Given the description of an element on the screen output the (x, y) to click on. 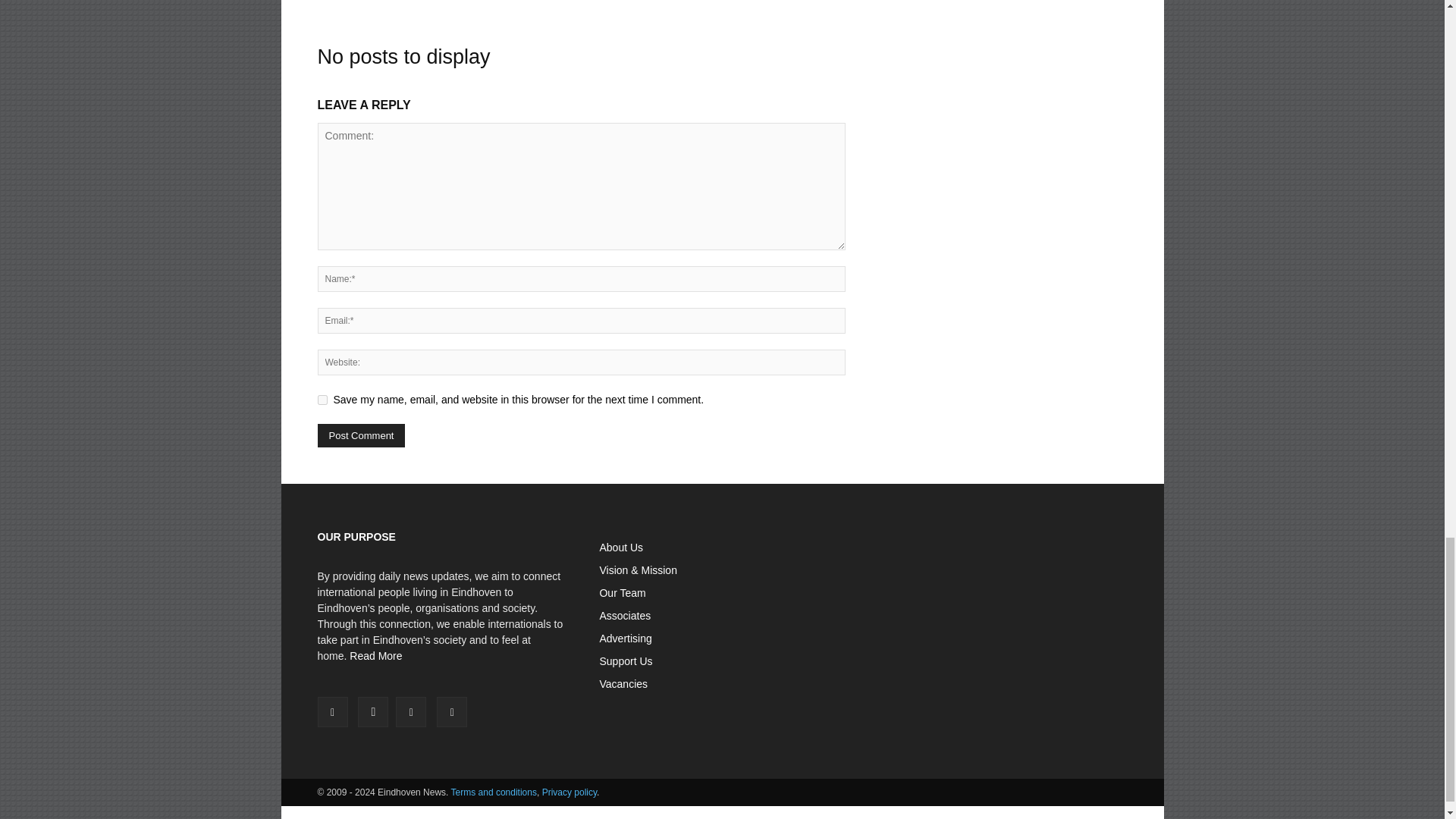
yes (321, 399)
Post Comment (360, 435)
